Given the description of an element on the screen output the (x, y) to click on. 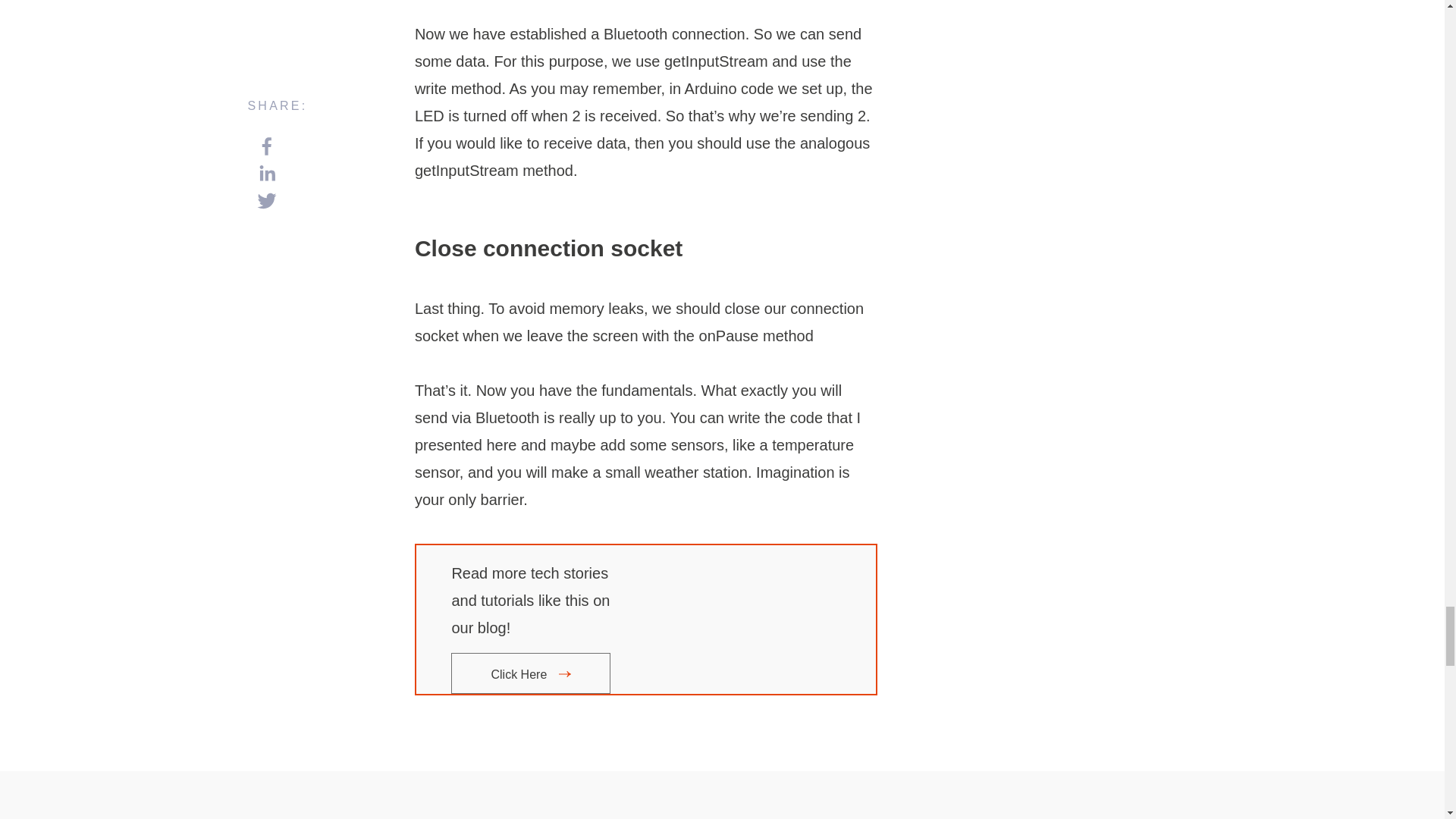
Click Here (530, 674)
